Given the description of an element on the screen output the (x, y) to click on. 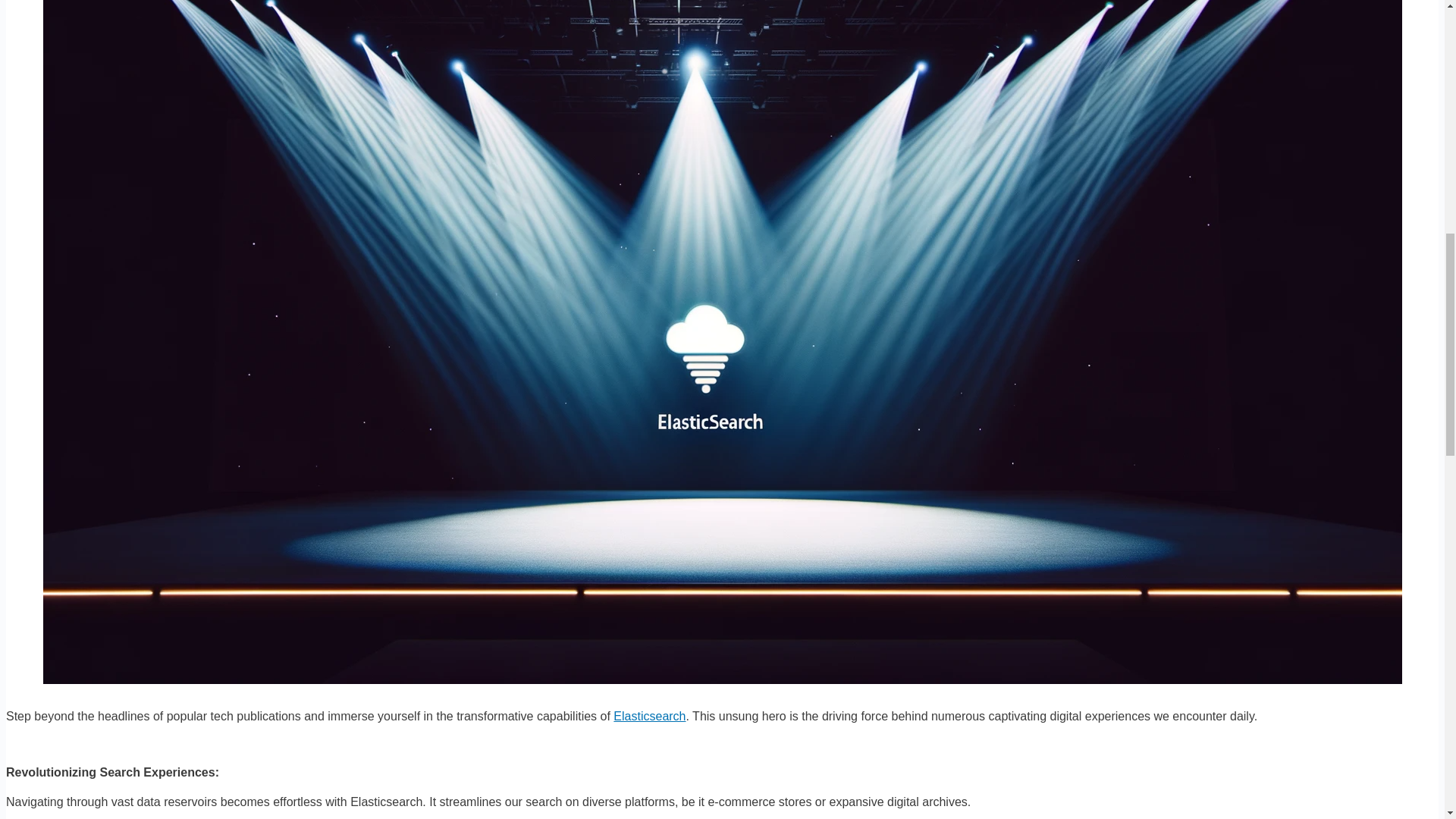
Elasticsearch (648, 716)
